Given the description of an element on the screen output the (x, y) to click on. 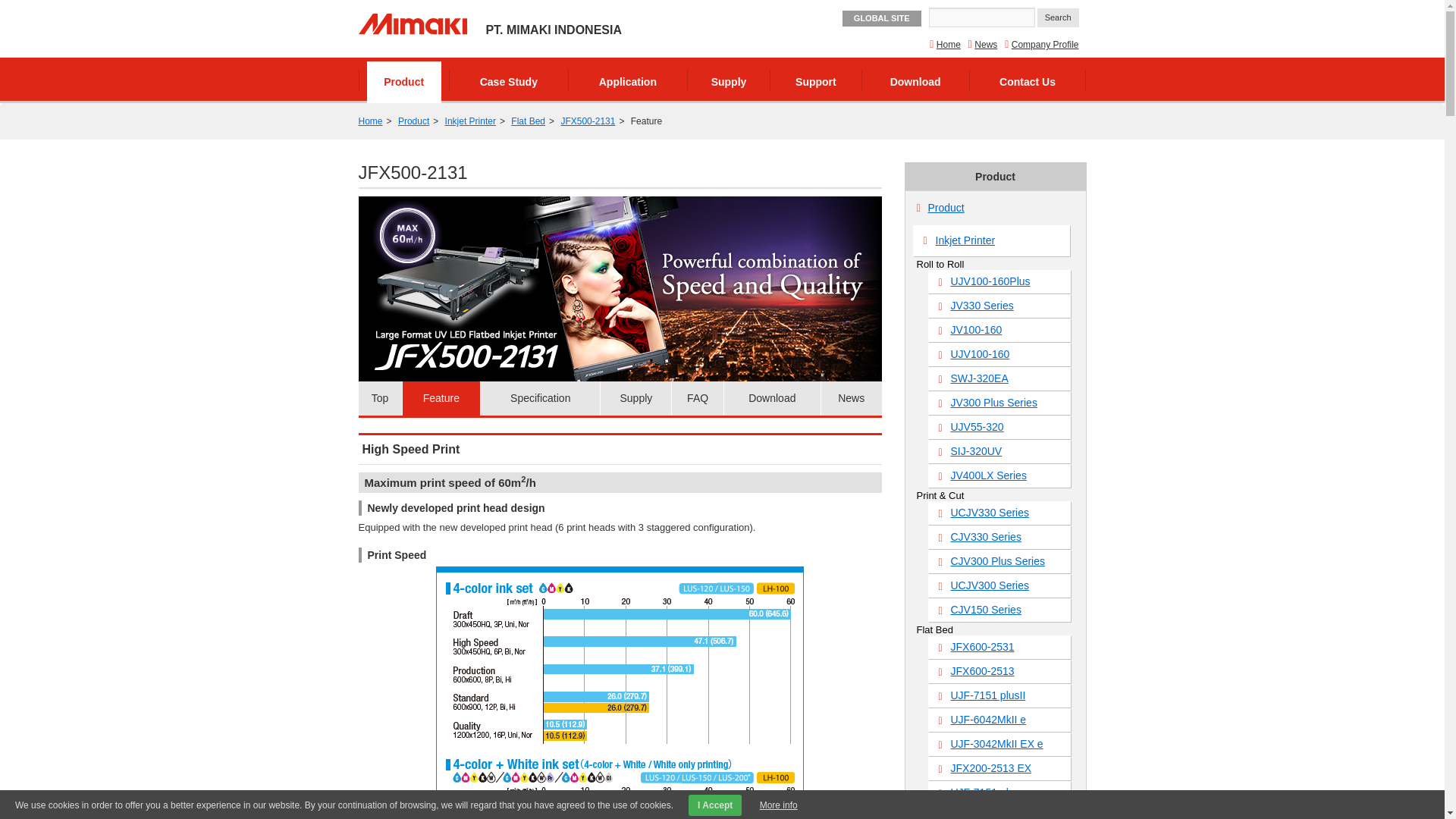
Contact Us (1027, 79)
GLOBAL SITE (882, 18)
Inkjet Printer (470, 121)
FAQ (696, 398)
Supply (728, 79)
Product (413, 121)
JFX500-2131 (587, 121)
Application (627, 79)
News (851, 398)
Download (772, 398)
